Given the description of an element on the screen output the (x, y) to click on. 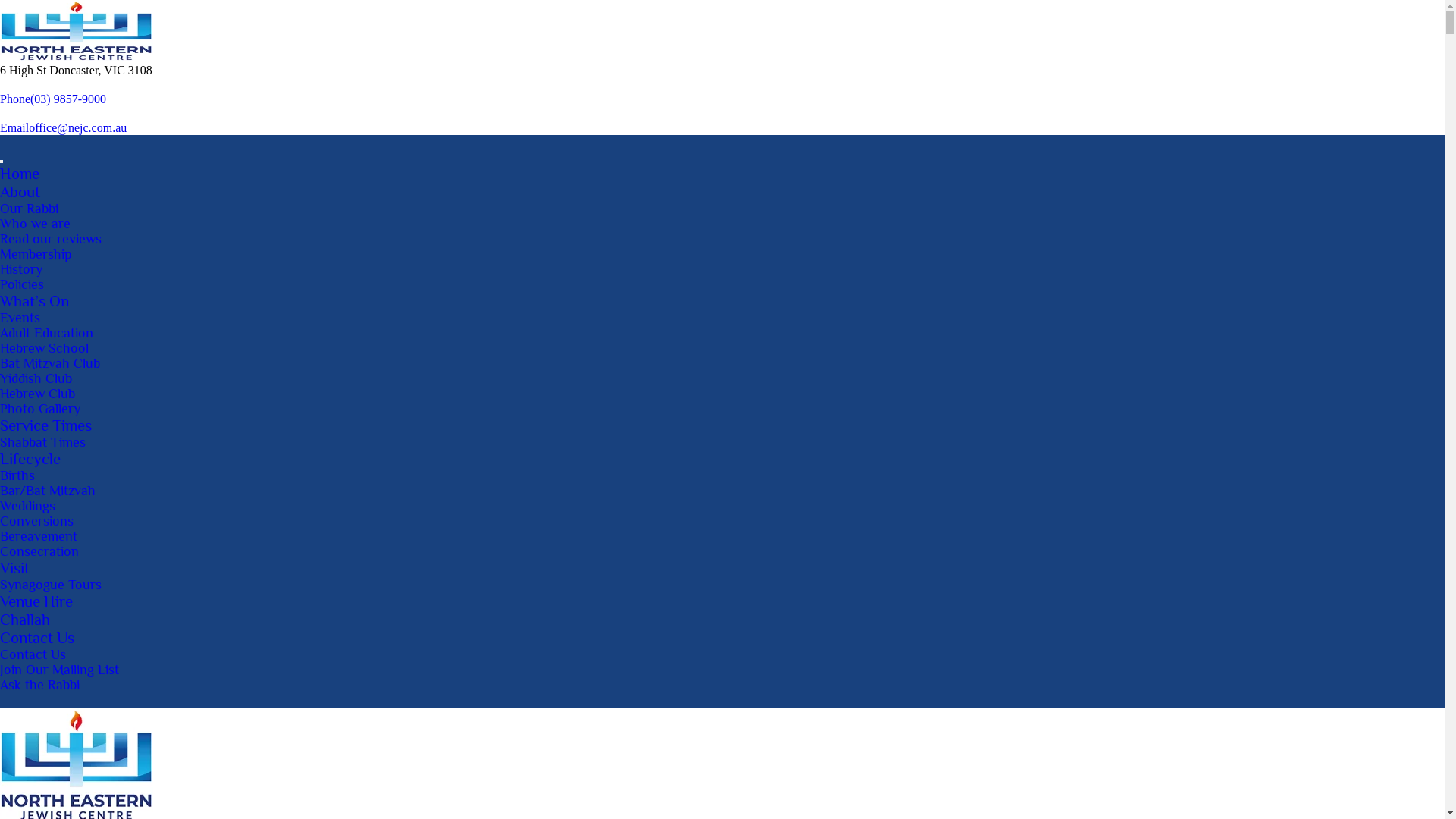
About Element type: text (20, 191)
Our Rabbi Element type: text (29, 208)
Lifecycle Element type: text (30, 458)
Hebrew School Element type: text (44, 347)
Bar/Bat Mitzvah Element type: text (47, 490)
Membership Element type: text (36, 253)
Phone(03) 9857-9000 Element type: text (53, 98)
Visit Element type: text (14, 567)
Bereavement Element type: text (38, 535)
Venue Hire Element type: text (36, 601)
Births Element type: text (17, 475)
Home Element type: text (19, 173)
History Element type: text (21, 268)
Events Element type: text (20, 317)
Consecration Element type: text (39, 550)
Synagogue Tours Element type: text (50, 584)
Photo Gallery Element type: text (40, 408)
Conversions Element type: text (36, 520)
Hebrew Club Element type: text (37, 393)
Challah Element type: text (25, 619)
Contact Us Element type: text (32, 654)
Policies Element type: text (21, 283)
Read our reviews Element type: text (50, 238)
Weddings Element type: text (27, 505)
Join Our Mailing List Element type: text (59, 669)
Who we are Element type: text (35, 223)
Ask the Rabbi Element type: text (39, 684)
Adult Education Element type: text (46, 332)
Emailoffice@nejc.com.au Element type: text (63, 127)
Bat Mitzvah Club Element type: text (50, 362)
Shabbat Times Element type: text (42, 441)
Yiddish Club Element type: text (36, 377)
Contact Us Element type: text (37, 637)
Service Times Element type: text (45, 425)
